Given the description of an element on the screen output the (x, y) to click on. 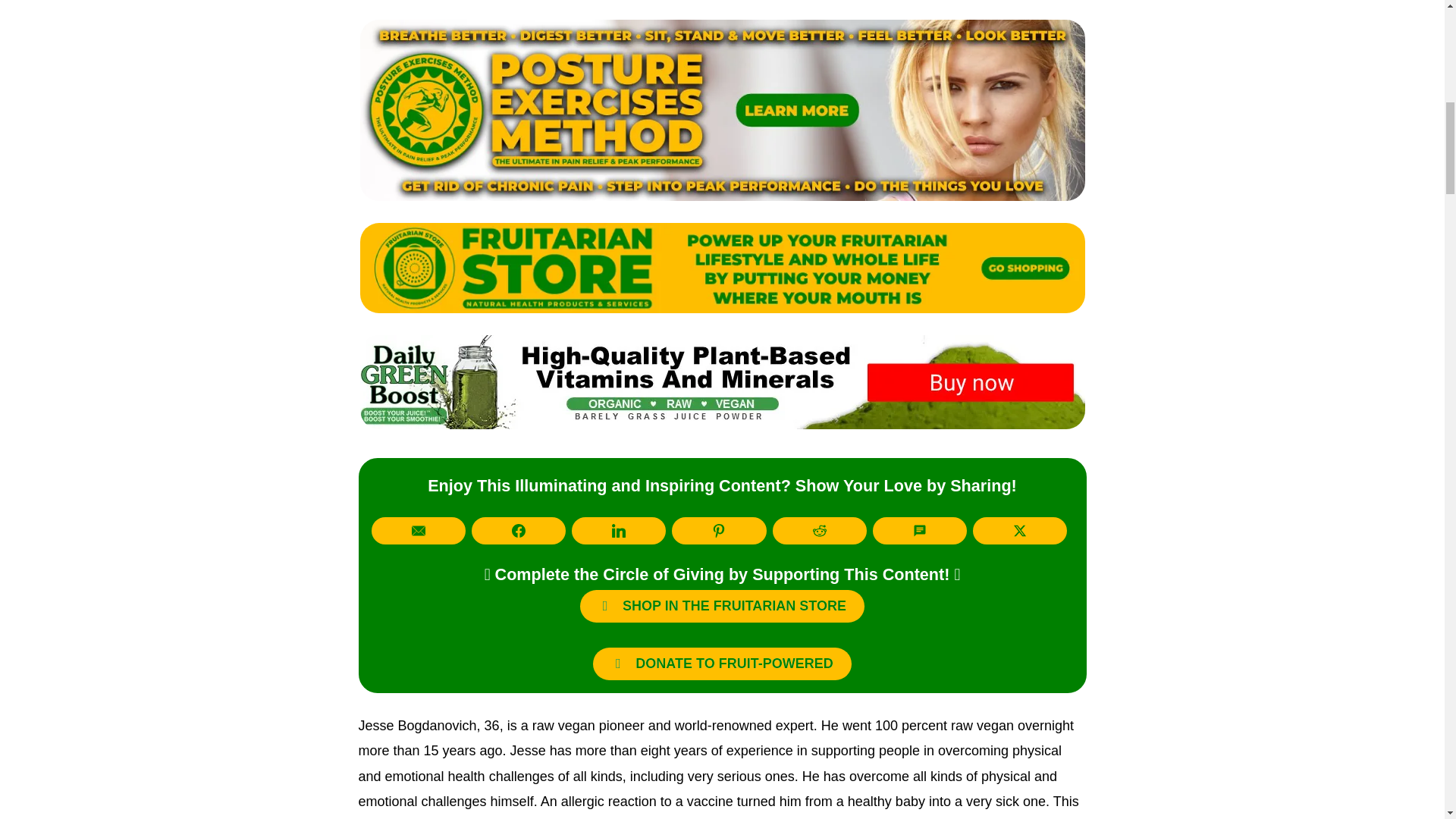
Share on Reddit (819, 530)
Share on LinkedIn (618, 530)
Share on SMS (919, 530)
Share on Facebook (518, 530)
Share on Twitter (1019, 530)
Share on Pinterest (718, 530)
Share on Email (418, 530)
